Given the description of an element on the screen output the (x, y) to click on. 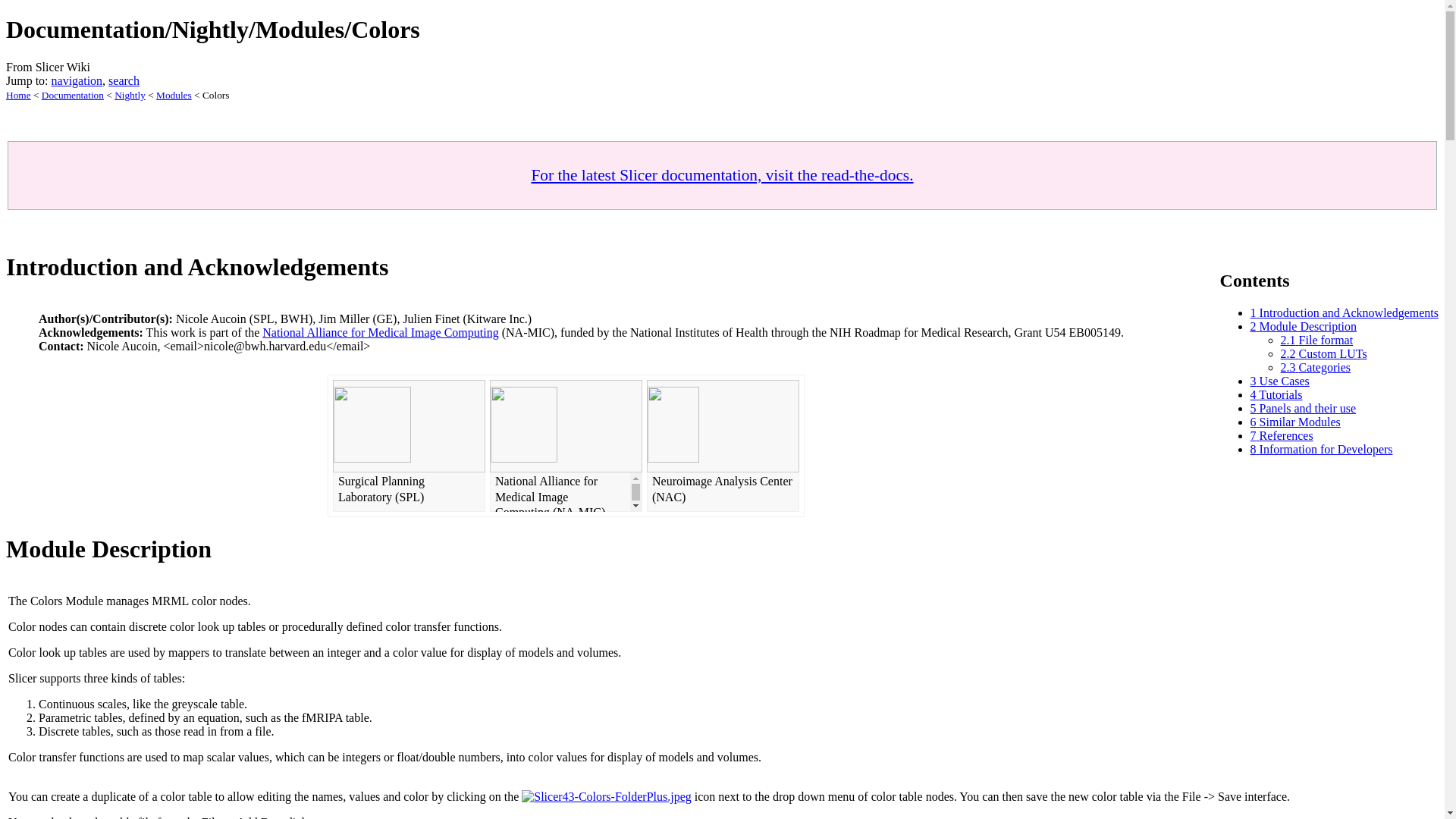
8 Information for Developers (1321, 449)
2.2 Custom LUTs (1324, 353)
7 References (1281, 435)
2 Module Description (1303, 326)
Documentation (72, 94)
2.3 Categories (1316, 367)
Modules (173, 94)
National Alliance for Medical Image Computing (379, 332)
2.1 File format (1317, 339)
navigation (76, 80)
Home (17, 94)
search (123, 80)
4 Tutorials (1276, 394)
5 Panels and their use (1303, 408)
